Given the description of an element on the screen output the (x, y) to click on. 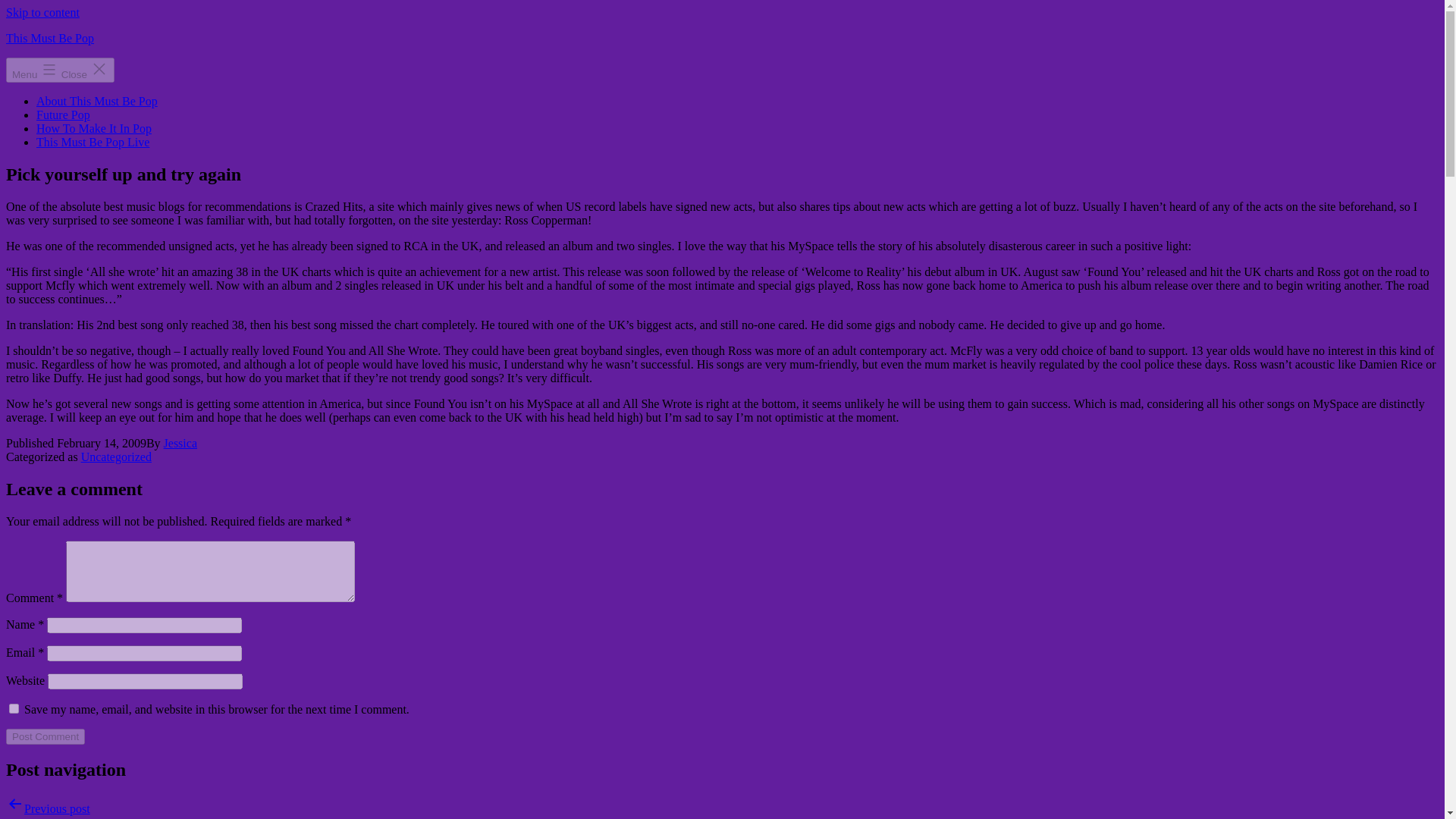
How To Make It In Pop (93, 128)
Post Comment (44, 736)
Uncategorized (116, 456)
About This Must Be Pop (96, 101)
Jessica (179, 442)
Post Comment (44, 736)
yes (13, 708)
Skip to content (42, 11)
Menu Close (60, 69)
This Must Be Pop Live (92, 141)
